Given the description of an element on the screen output the (x, y) to click on. 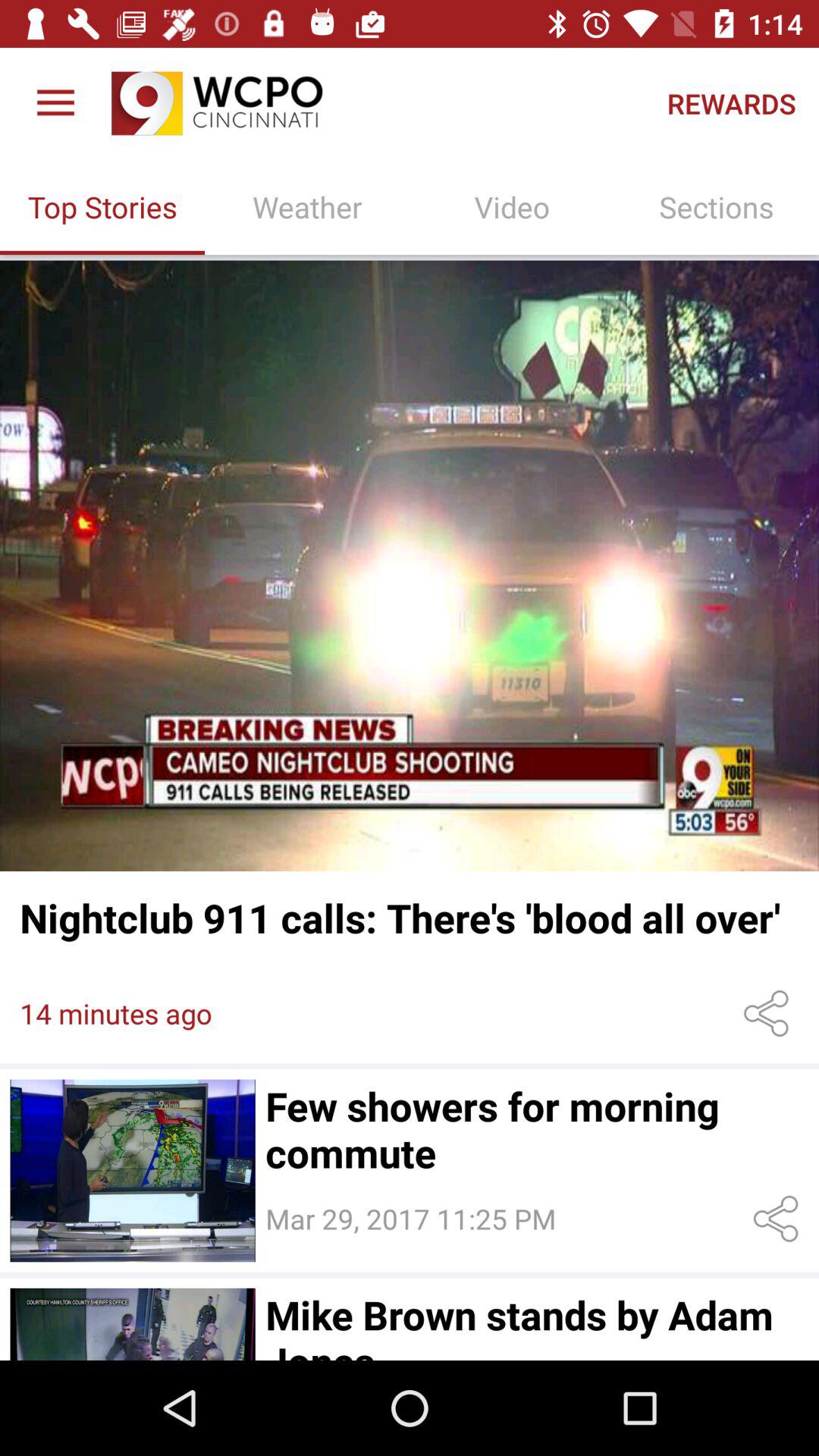
share this link (769, 1013)
